Given the description of an element on the screen output the (x, y) to click on. 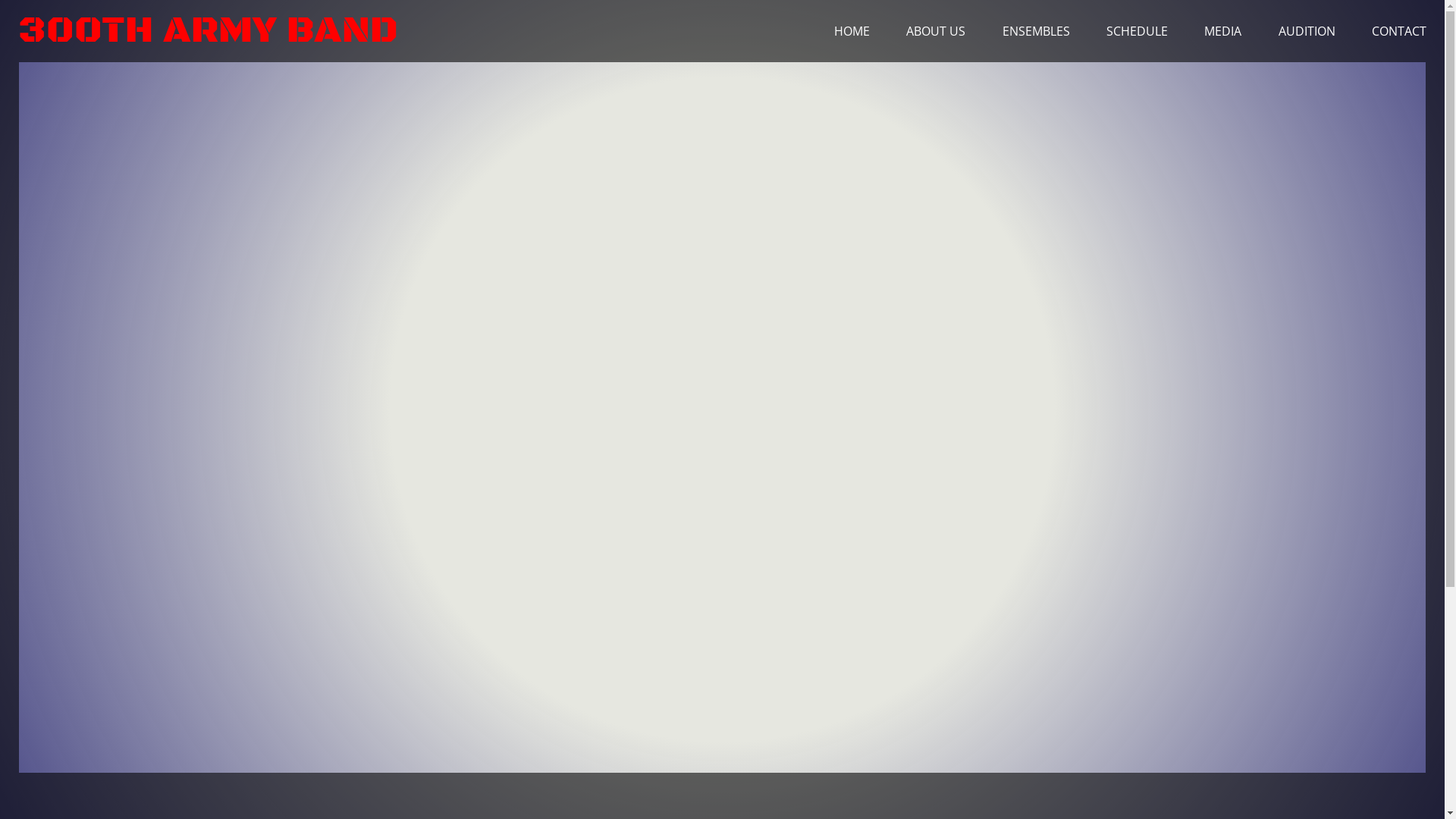
HOME Element type: text (851, 30)
300TH ARMY BAND Element type: text (207, 30)
SCHEDULE Element type: text (1136, 30)
CONTACT Element type: text (1398, 30)
ENSEMBLES Element type: text (1036, 30)
ABOUT US Element type: text (935, 30)
AUDITION Element type: text (1306, 30)
MEDIA Element type: text (1222, 30)
